Given the description of an element on the screen output the (x, y) to click on. 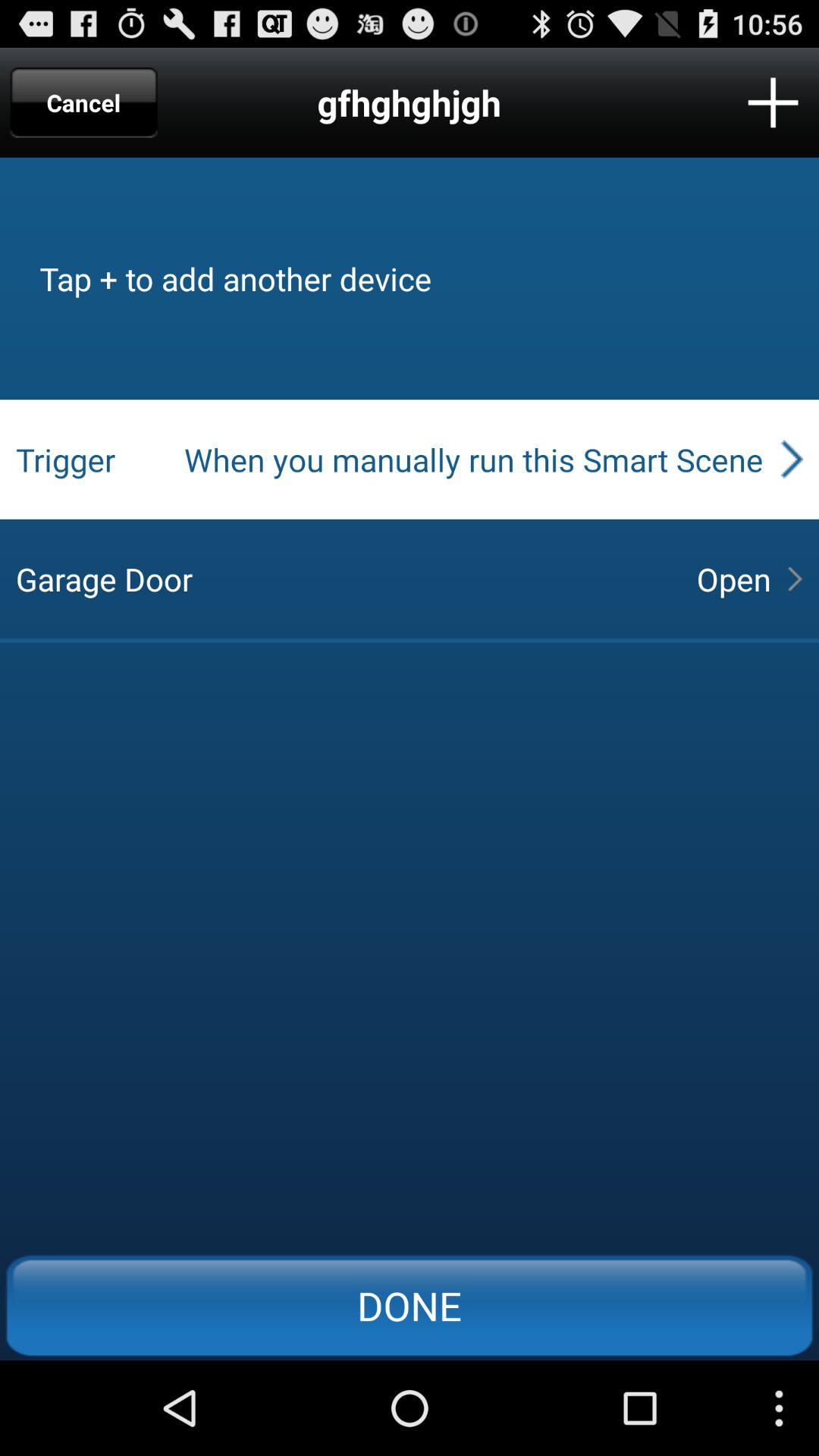
turn off app next to gfhghghjgh item (83, 102)
